Given the description of an element on the screen output the (x, y) to click on. 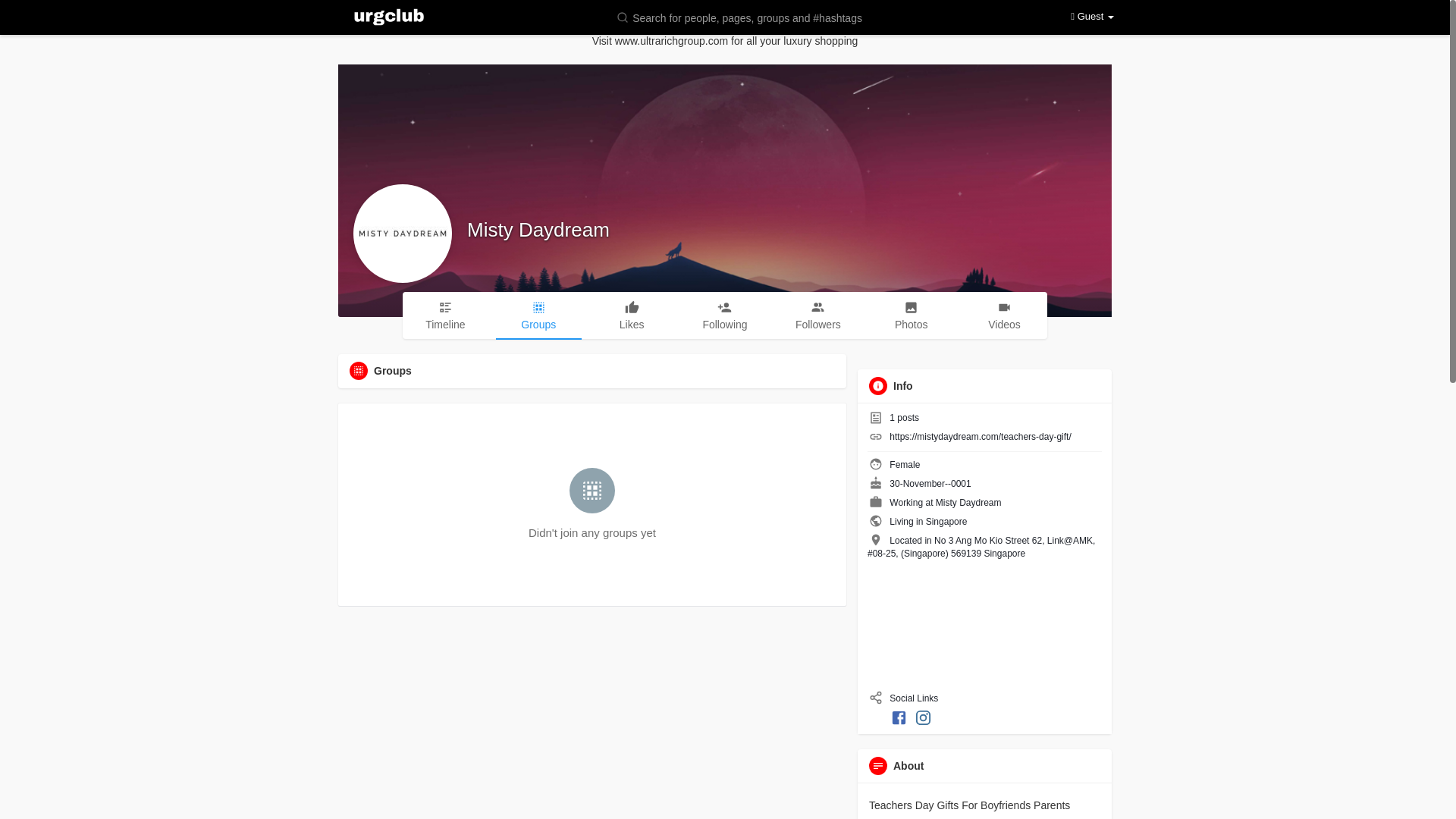
Likes (632, 314)
Groups (538, 315)
Following (725, 314)
Photos (910, 314)
Timeline (445, 314)
Videos (1003, 314)
Misty Daydream (968, 502)
Followers (817, 314)
Guest (1091, 17)
Misty Daydream (538, 229)
